Given the description of an element on the screen output the (x, y) to click on. 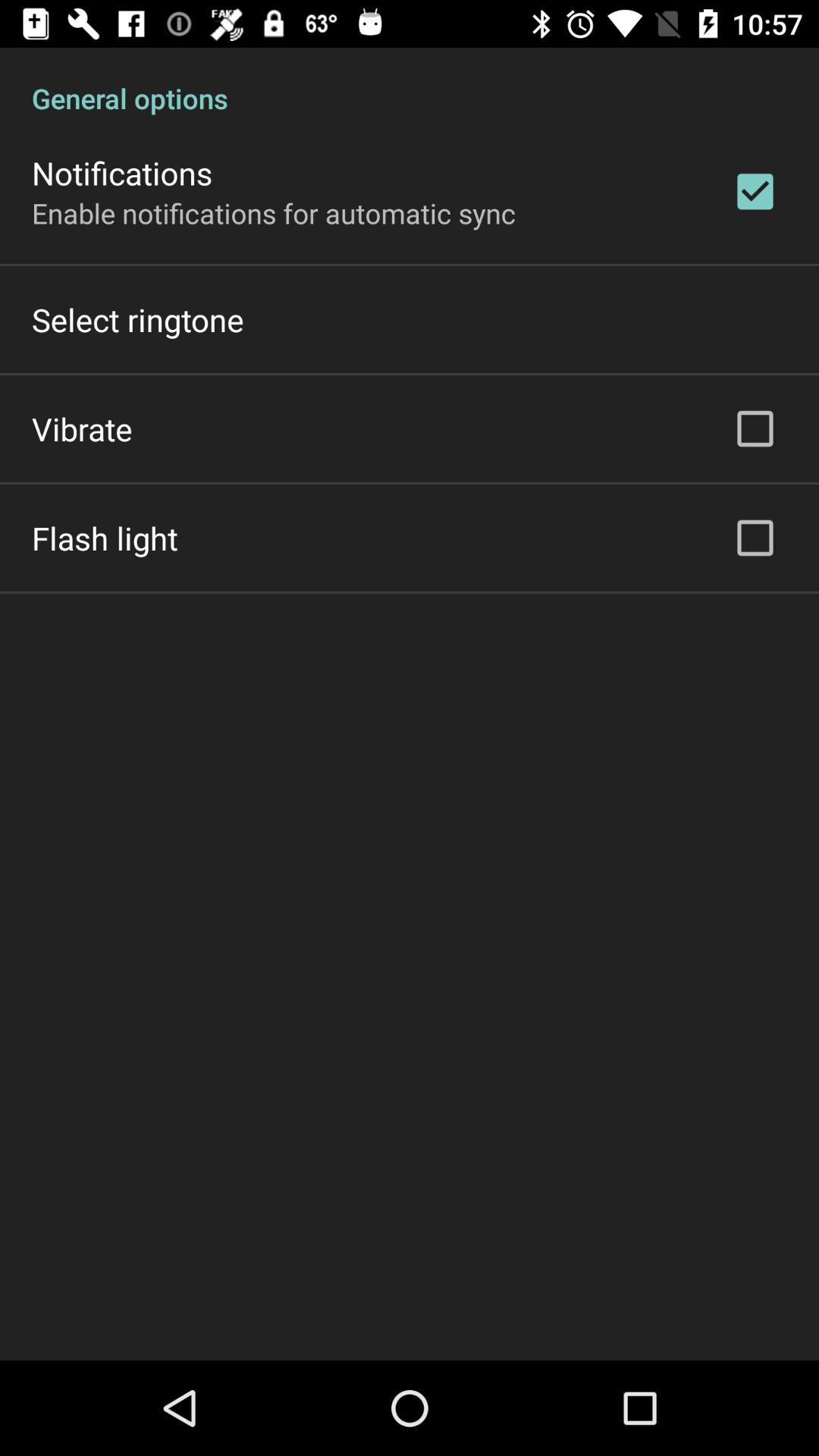
swipe until the select ringtone item (137, 319)
